Given the description of an element on the screen output the (x, y) to click on. 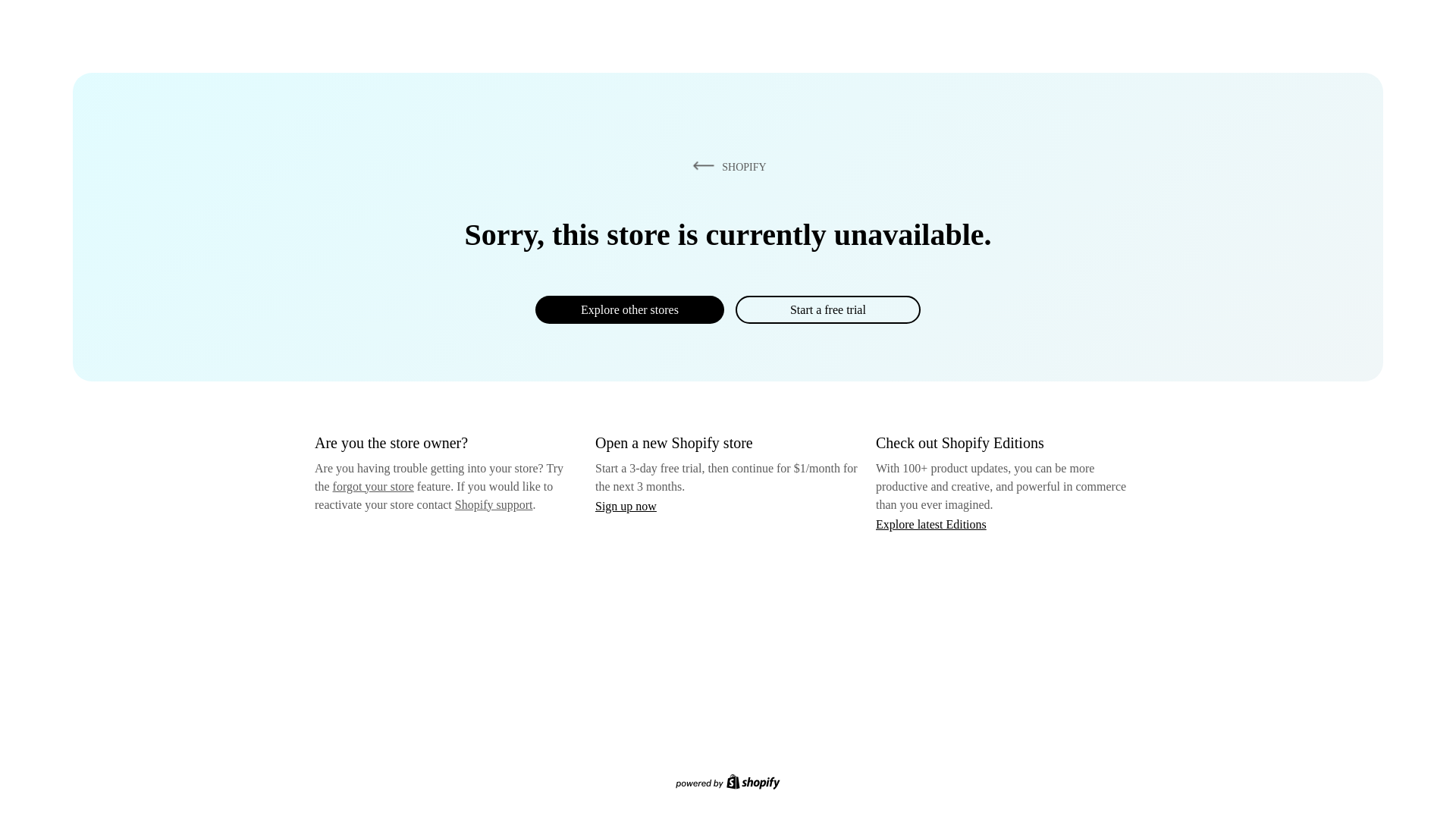
Shopify support (493, 504)
Sign up now (625, 505)
SHOPIFY (726, 166)
Start a free trial (827, 309)
forgot your store (373, 486)
Explore latest Editions (931, 523)
Explore other stores (629, 309)
